Given the description of an element on the screen output the (x, y) to click on. 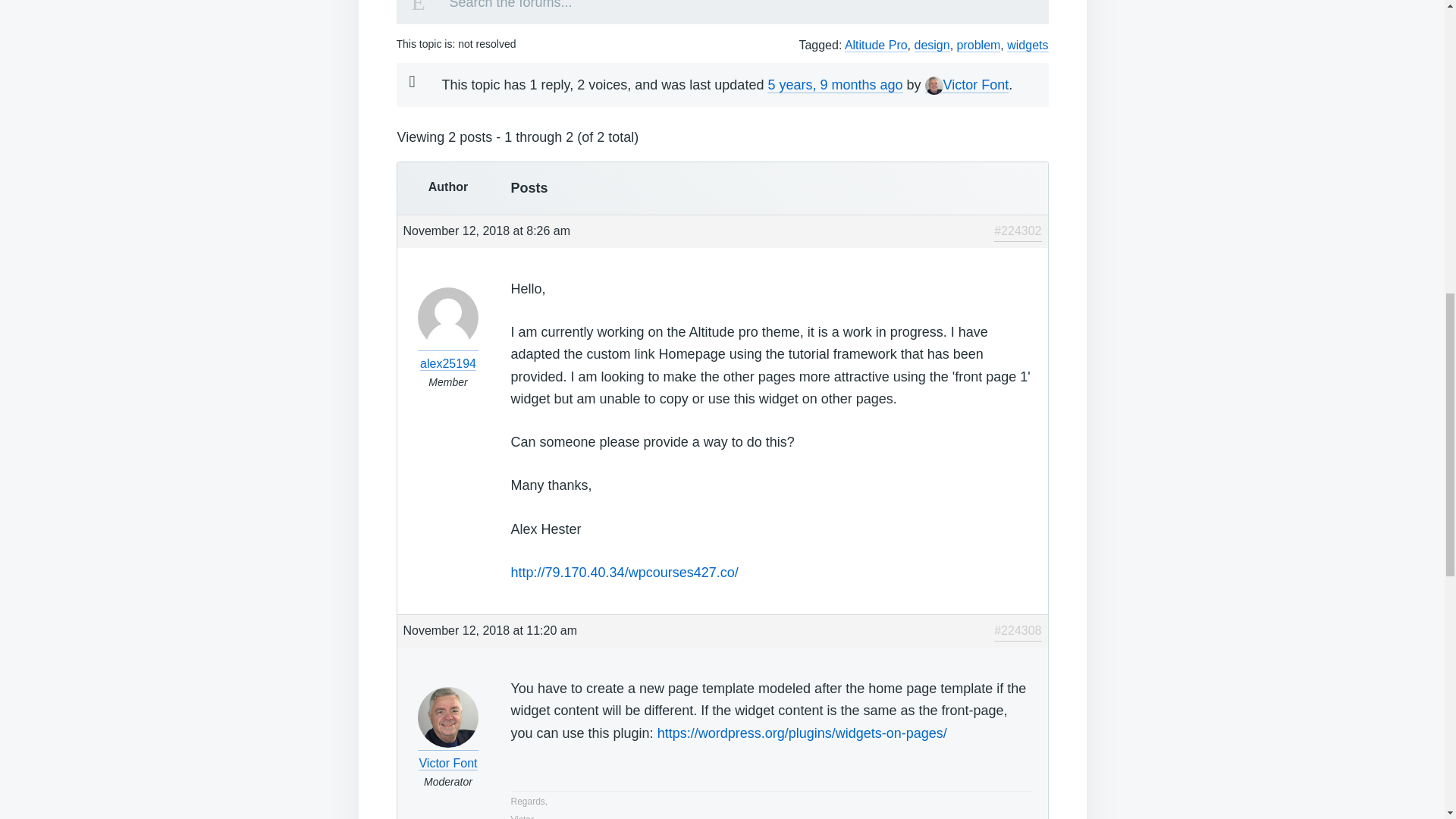
design (932, 45)
alex25194 (448, 354)
View Victor Font's profile (448, 753)
5 years, 9 months ago (834, 84)
widgets (1027, 45)
View alex25194's profile (448, 354)
Altitude Pro (875, 45)
problem (978, 45)
Victor Font (966, 84)
View Victor Font's profile (966, 84)
